Given the description of an element on the screen output the (x, y) to click on. 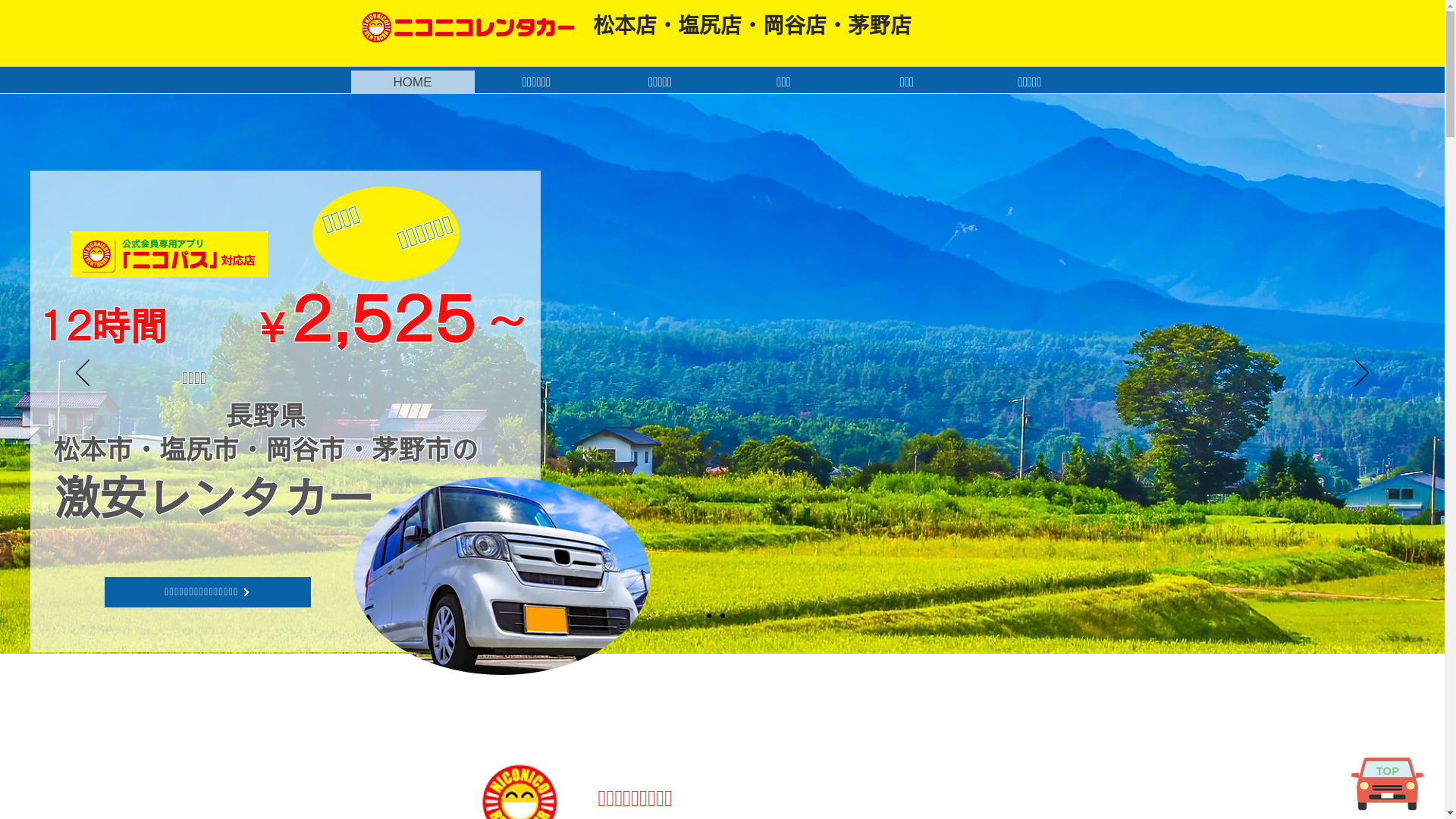
HOME Element type: text (411, 82)
TOP Element type: text (1387, 770)
